Given the description of an element on the screen output the (x, y) to click on. 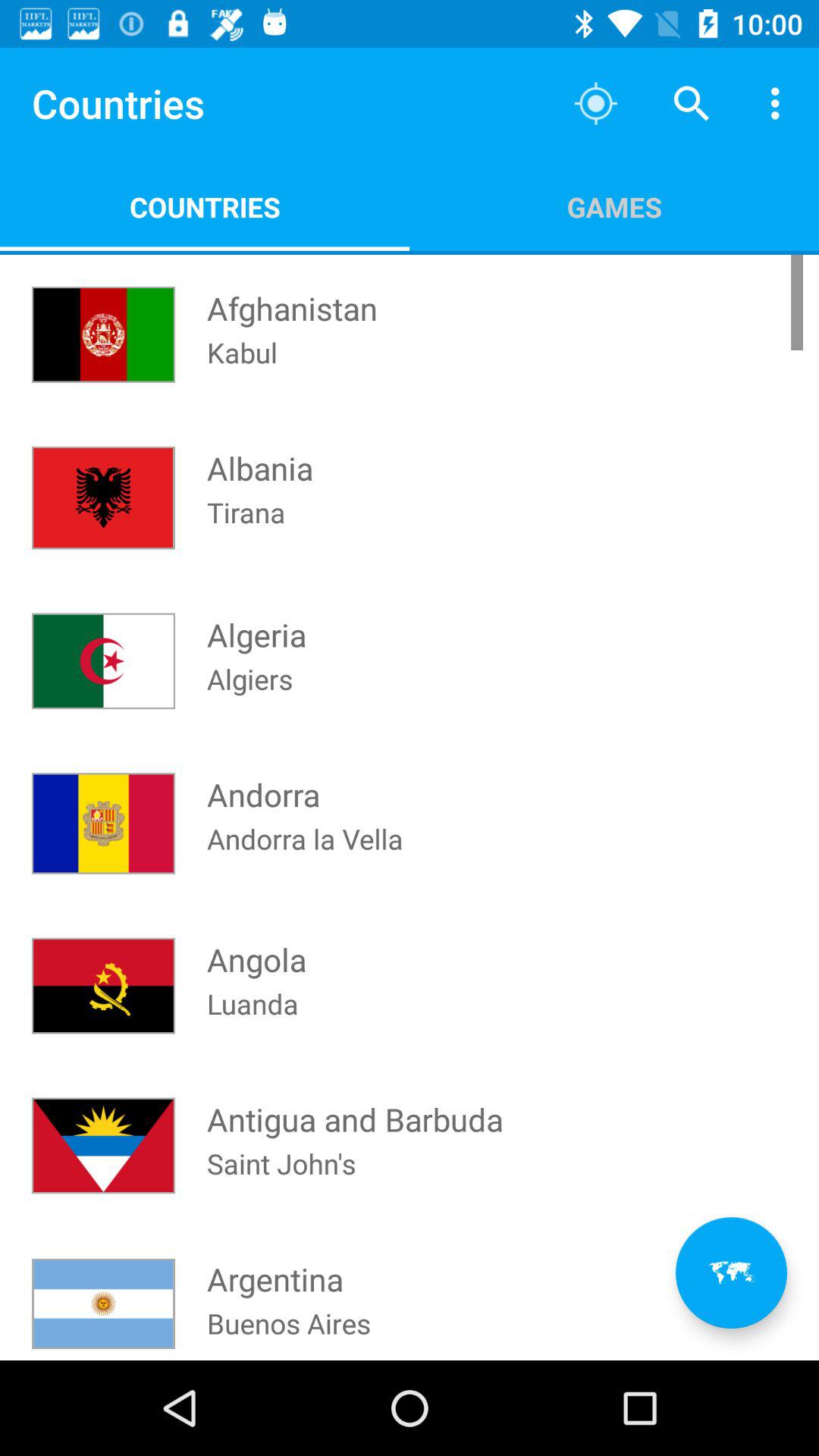
swipe until the algeria (256, 620)
